Given the description of an element on the screen output the (x, y) to click on. 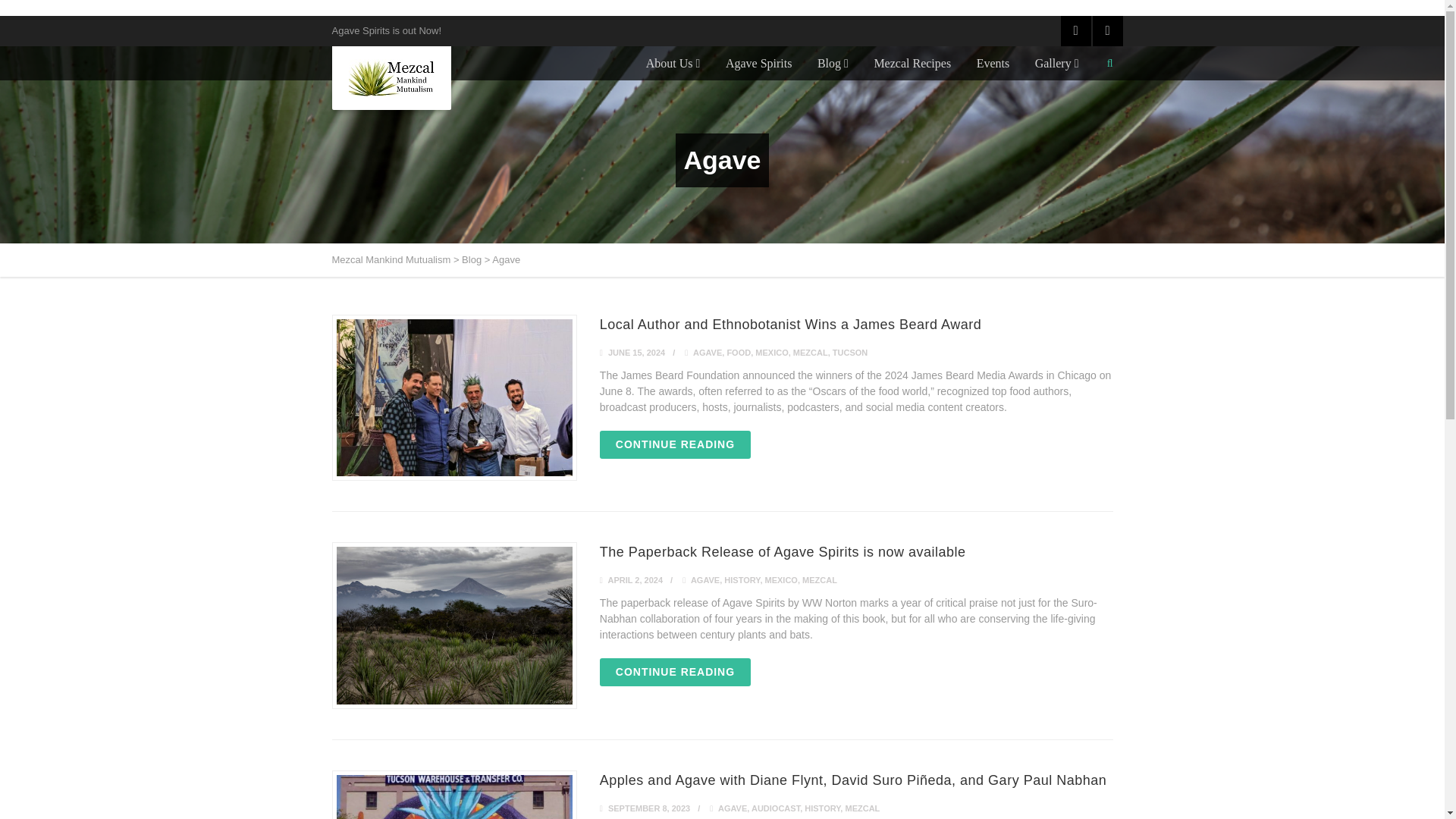
Agave Spirits (758, 62)
Gallery (1056, 62)
Mezcal Mankind Mutualism (391, 259)
AGAVE (707, 351)
MEZCAL (810, 351)
Mezcal Mankind Mutualism (391, 77)
Events (993, 62)
About Us (673, 62)
Blog (471, 259)
Mezcal Recipes (911, 62)
Go to Mezcal Mankind Mutualism. (391, 259)
FOOD (738, 351)
Blog (832, 62)
The Paperback Release of Agave Spirits is now available (782, 551)
Local Author and Ethnobotanist Wins a James Beard Award (790, 324)
